Given the description of an element on the screen output the (x, y) to click on. 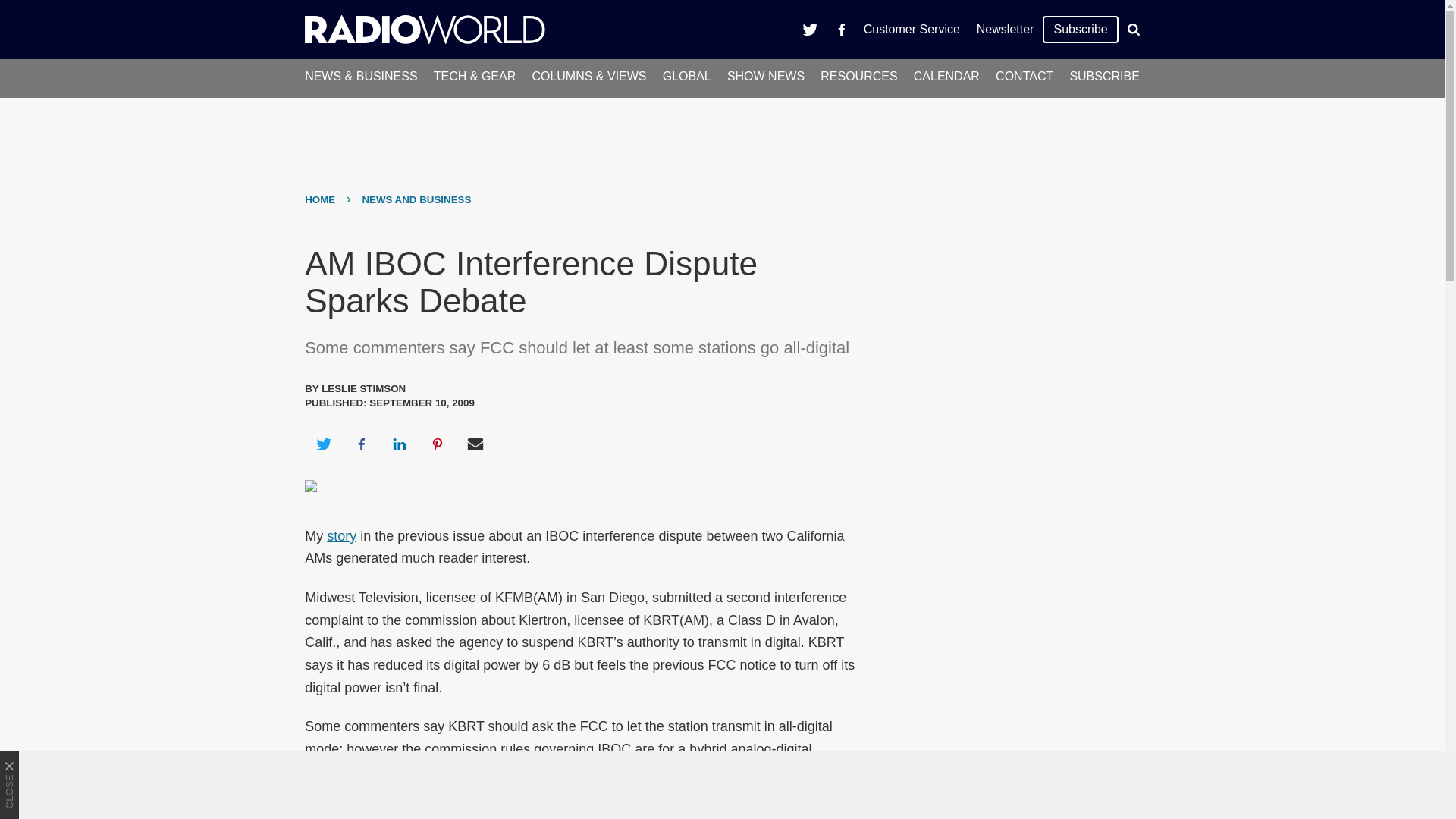
Share via Email (476, 444)
Share on Facebook (361, 444)
Share on Twitter (323, 444)
Share on Pinterest (438, 444)
Newsletter (1005, 29)
Share on LinkedIn (399, 444)
Customer Service (912, 29)
